Given the description of an element on the screen output the (x, y) to click on. 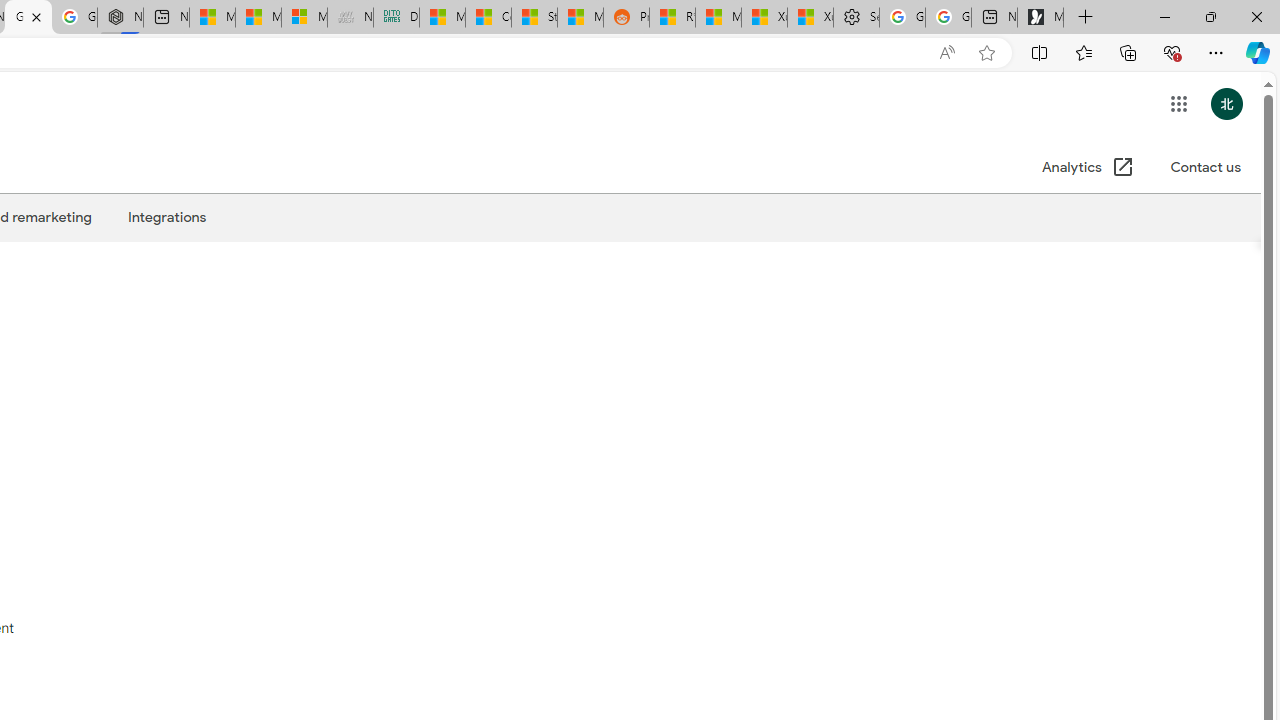
DITOGAMES AG Imprint (395, 17)
MSN (580, 17)
Stocks - MSN (534, 17)
Google apps (1178, 103)
